Given the description of an element on the screen output the (x, y) to click on. 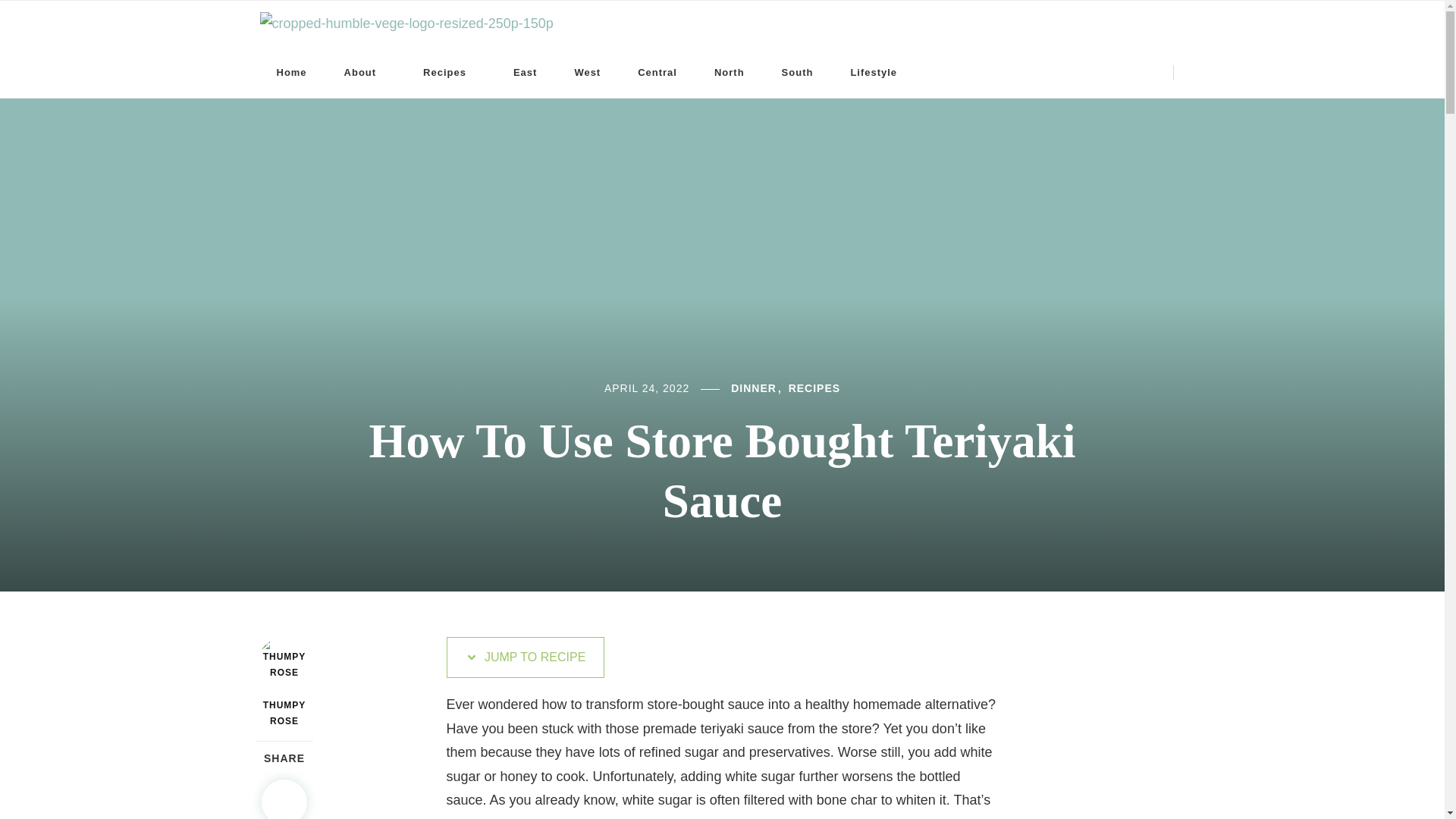
North (729, 71)
Recipes (449, 71)
Home (291, 71)
East (524, 71)
About (365, 71)
Central (657, 71)
South (797, 71)
West (587, 71)
Humble Vege (629, 38)
Lifestyle (877, 71)
Search (973, 74)
